Given the description of an element on the screen output the (x, y) to click on. 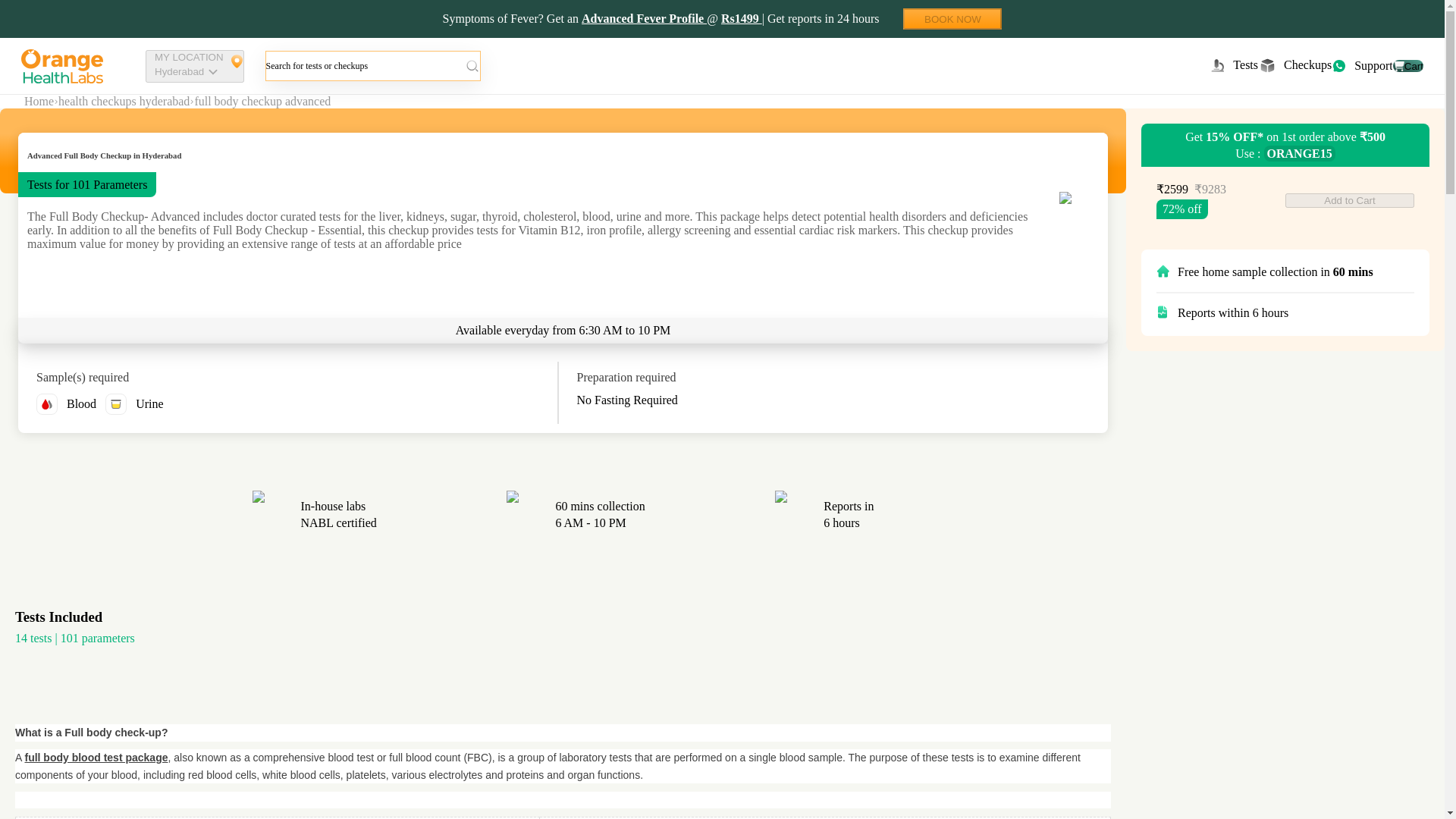
health checkups hyderabad (123, 101)
Add to Cart (1349, 200)
Home (194, 65)
 Checkups (38, 101)
BOOK NOW (1294, 65)
 Tests (951, 18)
full body blood test package (1232, 65)
Support (95, 757)
Cart (1362, 65)
